Given the description of an element on the screen output the (x, y) to click on. 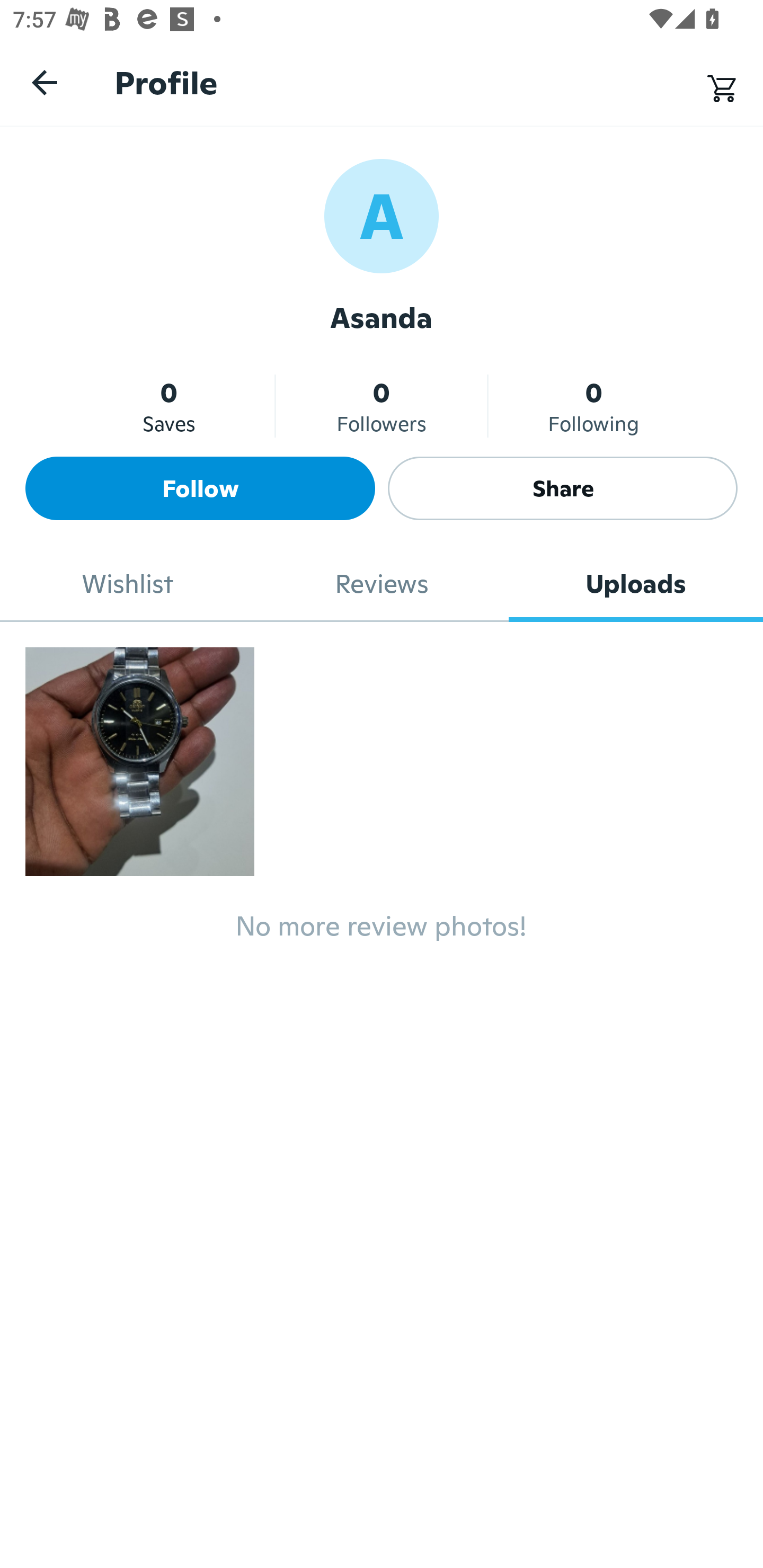
Navigate up (44, 82)
A (381, 215)
0 Followers (381, 405)
0 Following (593, 405)
Follow (200, 488)
Share (562, 488)
Wishlist (127, 583)
Reviews (381, 583)
Uploads (635, 583)
No more review photos! (381, 933)
